Given the description of an element on the screen output the (x, y) to click on. 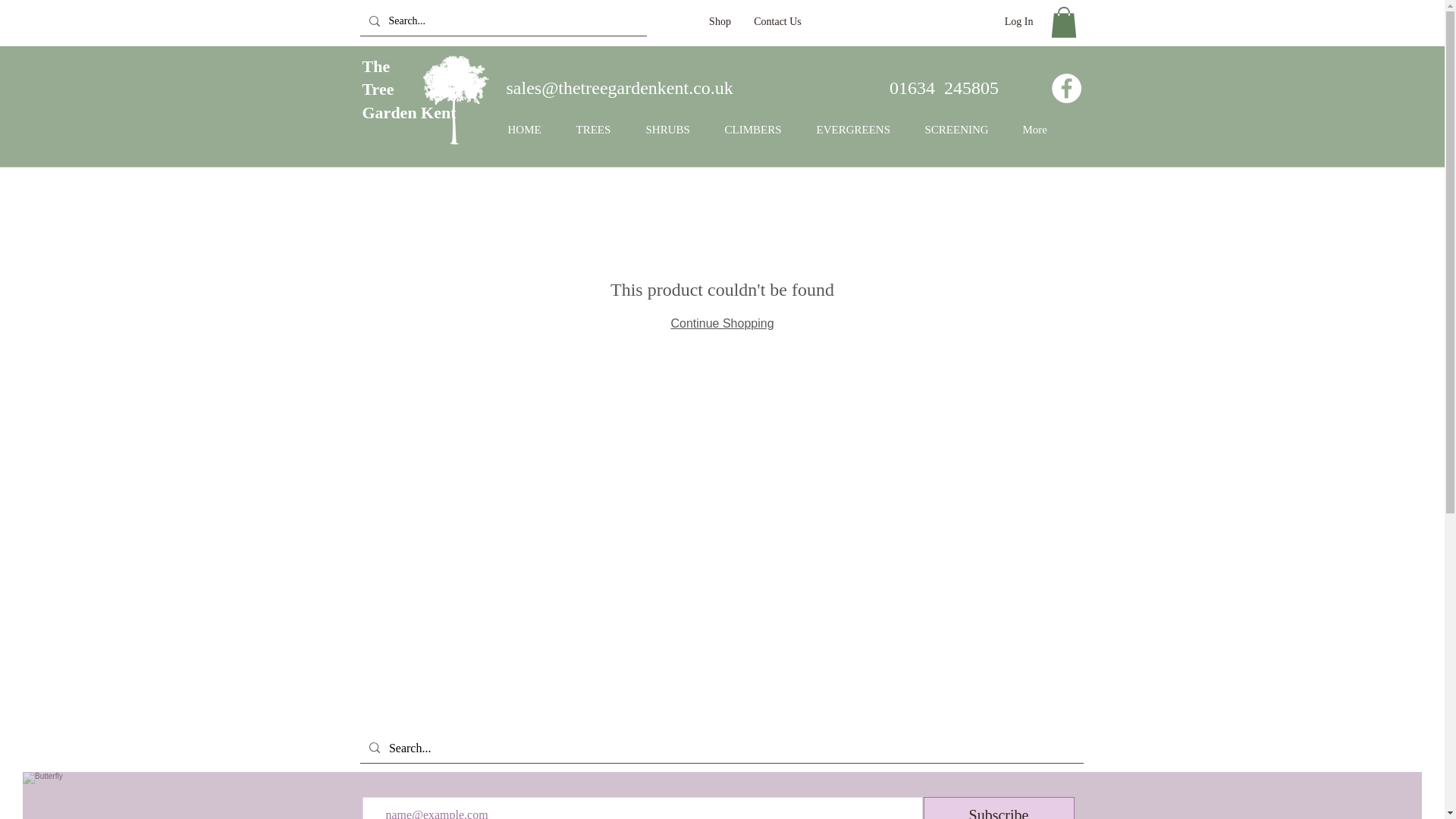
TREES (598, 129)
EVERGREENS (859, 129)
CLIMBERS (759, 129)
Subscribe (998, 807)
01634  245805 (943, 87)
Continue Shopping (409, 89)
HOME (721, 323)
Shop (530, 129)
Log In (719, 21)
SCREENING (1018, 21)
Contact Us (961, 129)
SHRUBS (777, 21)
